Given the description of an element on the screen output the (x, y) to click on. 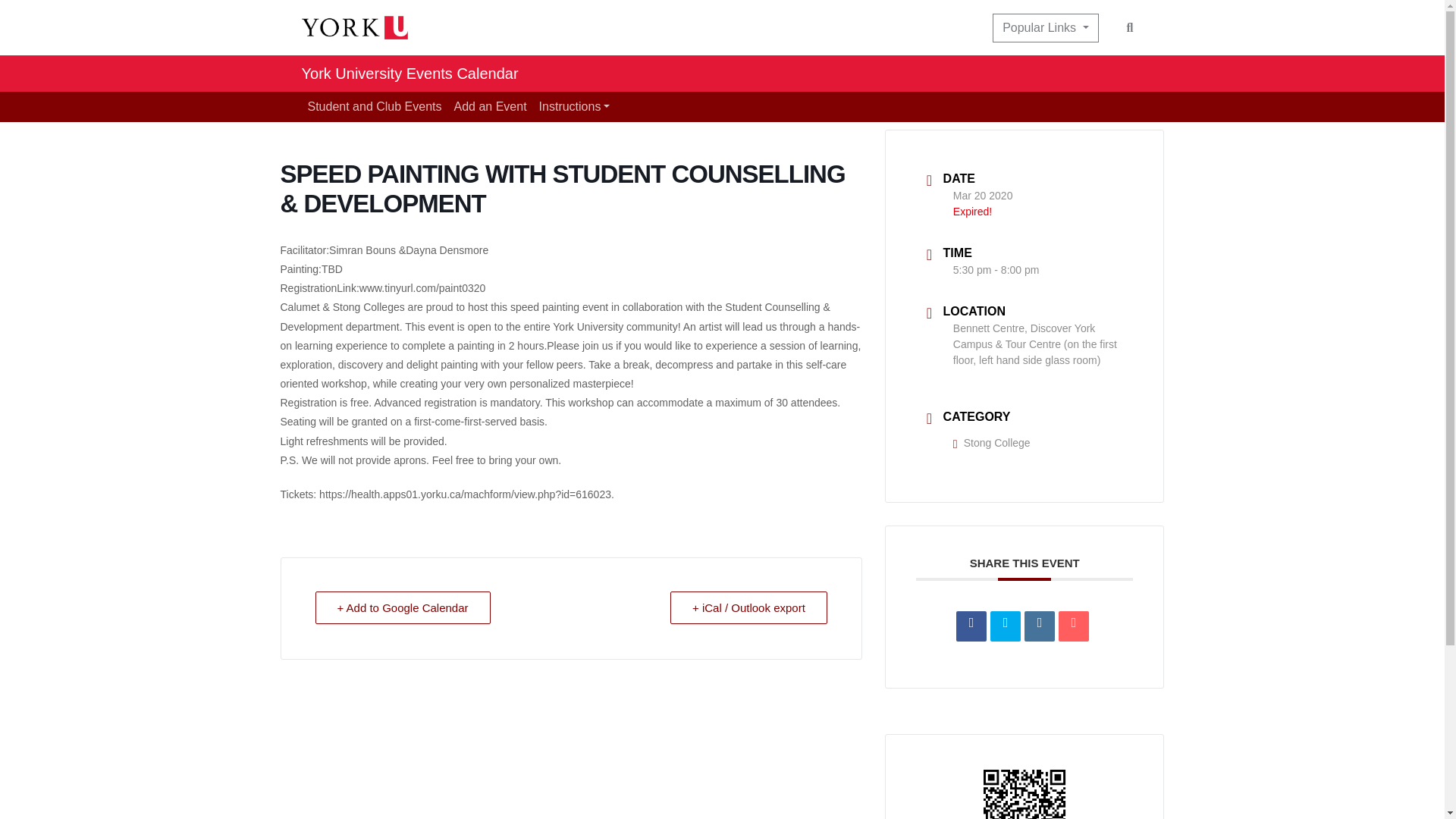
Linkedin (1039, 625)
Share on Facebook (971, 625)
Instructions (573, 106)
York University Events Calendar (409, 73)
Search (1129, 27)
Add an Event (490, 106)
Tweet (1005, 625)
Stong College (991, 442)
Popular Links (1044, 27)
Student and Club Events (374, 106)
